Given the description of an element on the screen output the (x, y) to click on. 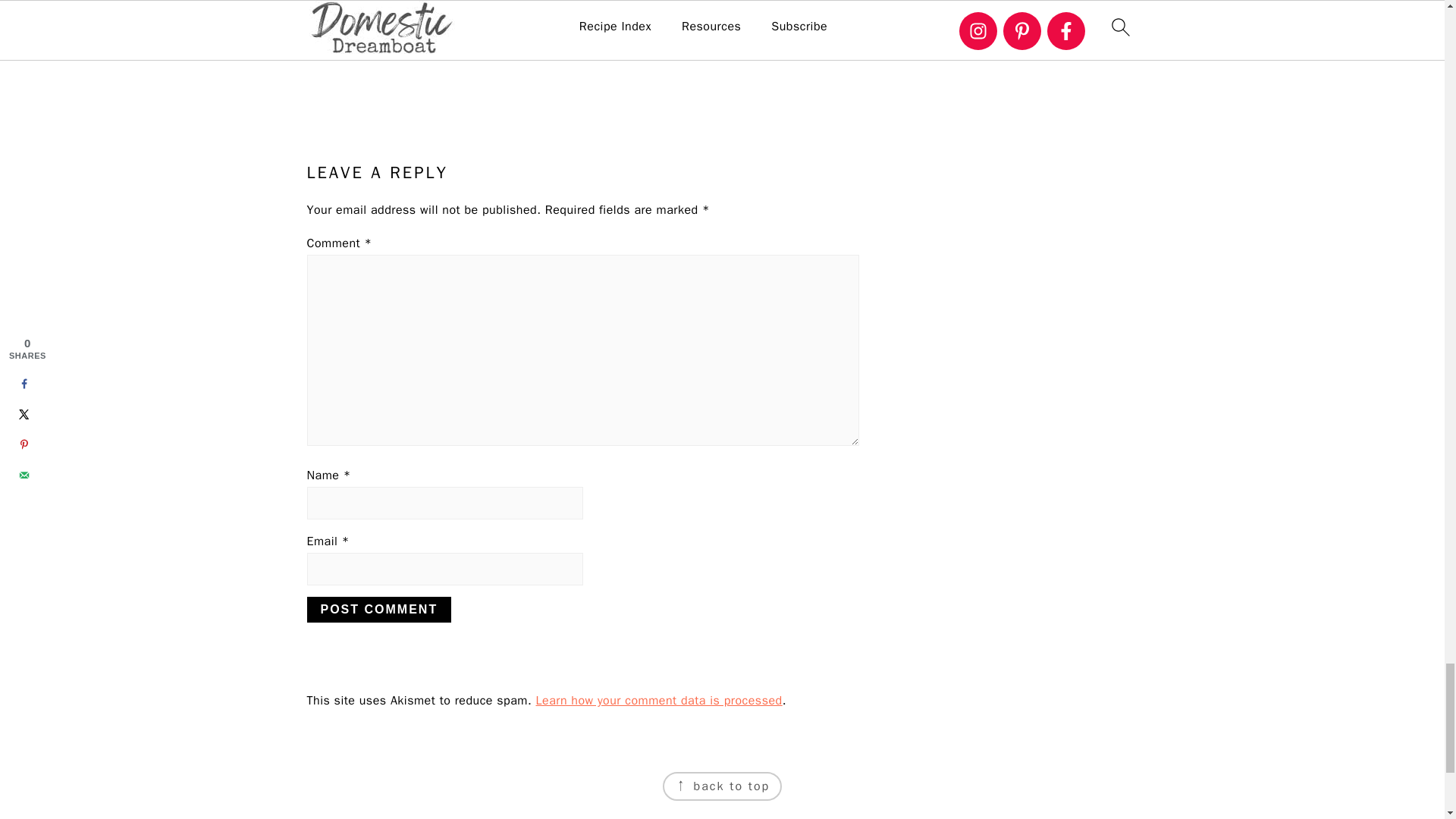
A Week in San Francisco (512, 32)
Post Comment (378, 609)
A Week in San Francisco (512, 10)
Merry Christmas from Domestic Dreamboat! (653, 10)
Family Vacation to Riviera Maya (369, 10)
Merry Christmas from Domestic Dreamboat! (653, 32)
How to Make Your Own Baby Food (794, 10)
Family Vacation to Riviera Maya (369, 32)
